Given the description of an element on the screen output the (x, y) to click on. 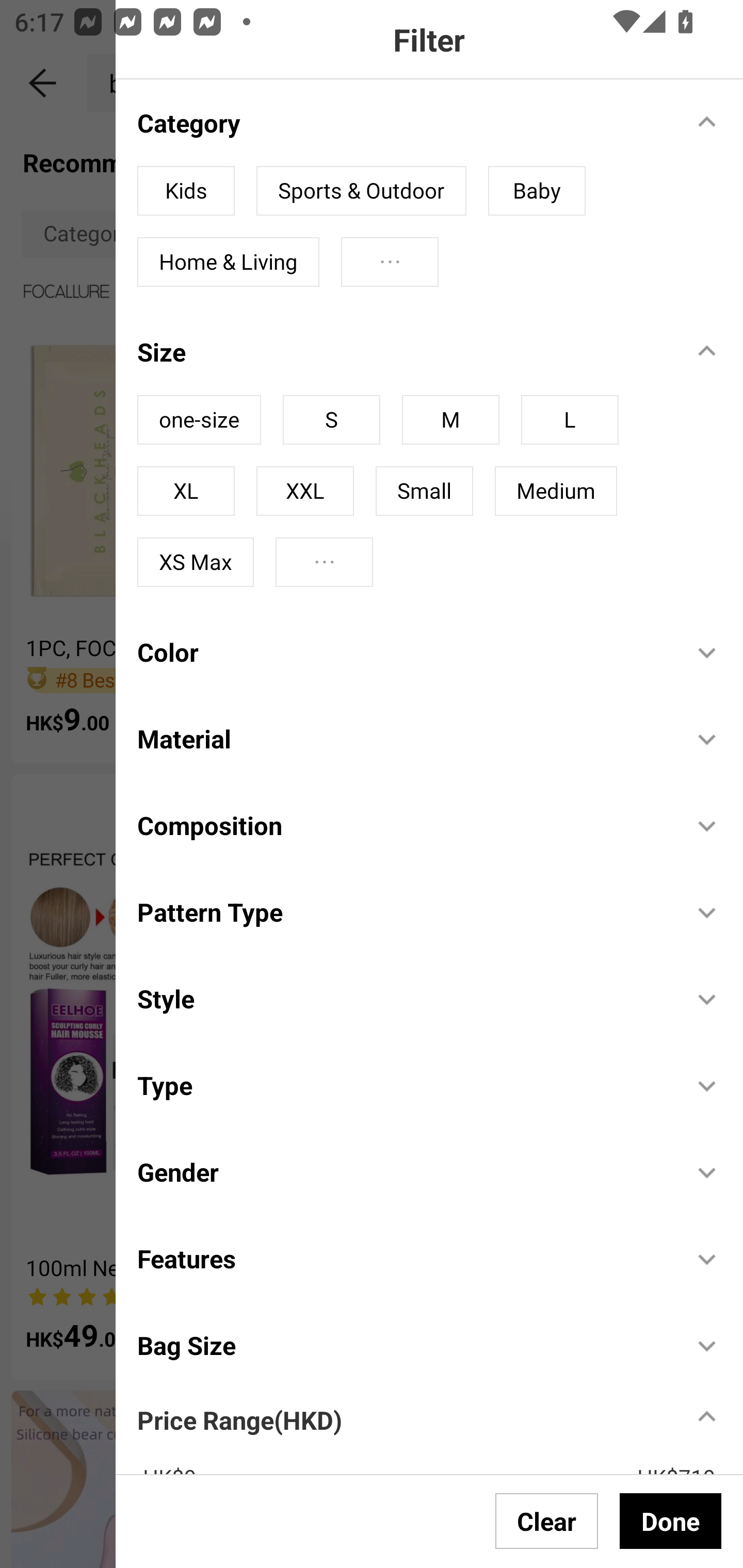
Category (403, 122)
Kids (185, 191)
Sports & Outdoor (361, 191)
Baby (536, 191)
Home & Living (228, 261)
Size (403, 351)
one-size (198, 420)
S (331, 420)
M (450, 420)
L (569, 420)
XL (185, 490)
XXL (304, 490)
Small (424, 490)
Medium (555, 490)
XS Max (195, 561)
Color (403, 652)
Material (403, 738)
Composition (403, 824)
Pattern Type (403, 911)
Style (403, 998)
Type (403, 1085)
Gender (403, 1171)
Features (403, 1258)
Bag Size (403, 1345)
Price Range(HKD) (239, 1419)
Clear (546, 1520)
Done (670, 1520)
